Given the description of an element on the screen output the (x, y) to click on. 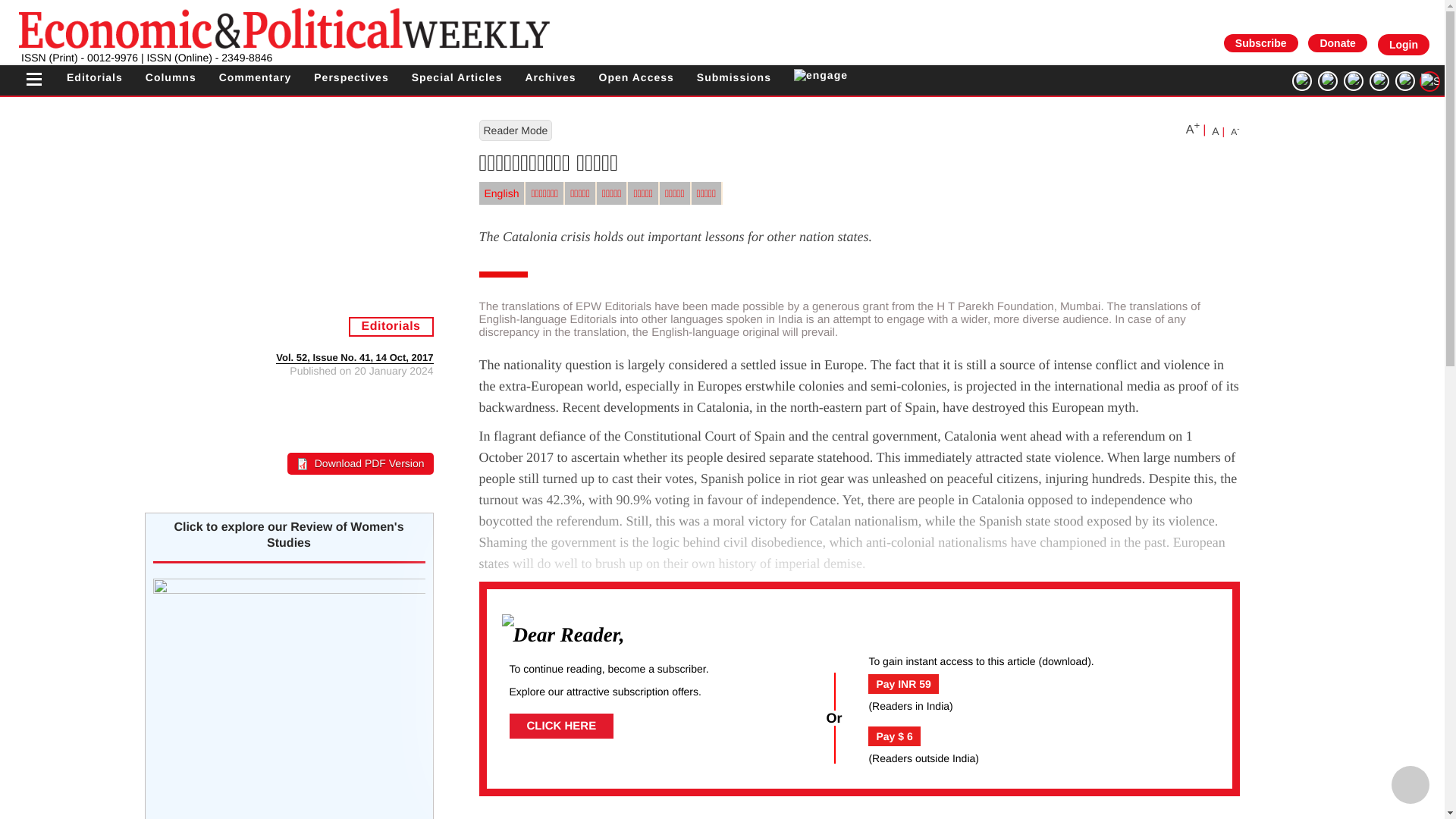
Open Access (636, 77)
Special Articles (457, 77)
Special Articles (457, 77)
Editorials (94, 77)
Perspectives (351, 77)
Archives (549, 77)
Submissions (734, 77)
Subscribe (1260, 42)
Commentary (255, 77)
EPW Menu (34, 79)
Donate (1337, 43)
Donate (1337, 42)
Columns (170, 77)
Editorials (94, 77)
Subscribe (1261, 43)
